Given the description of an element on the screen output the (x, y) to click on. 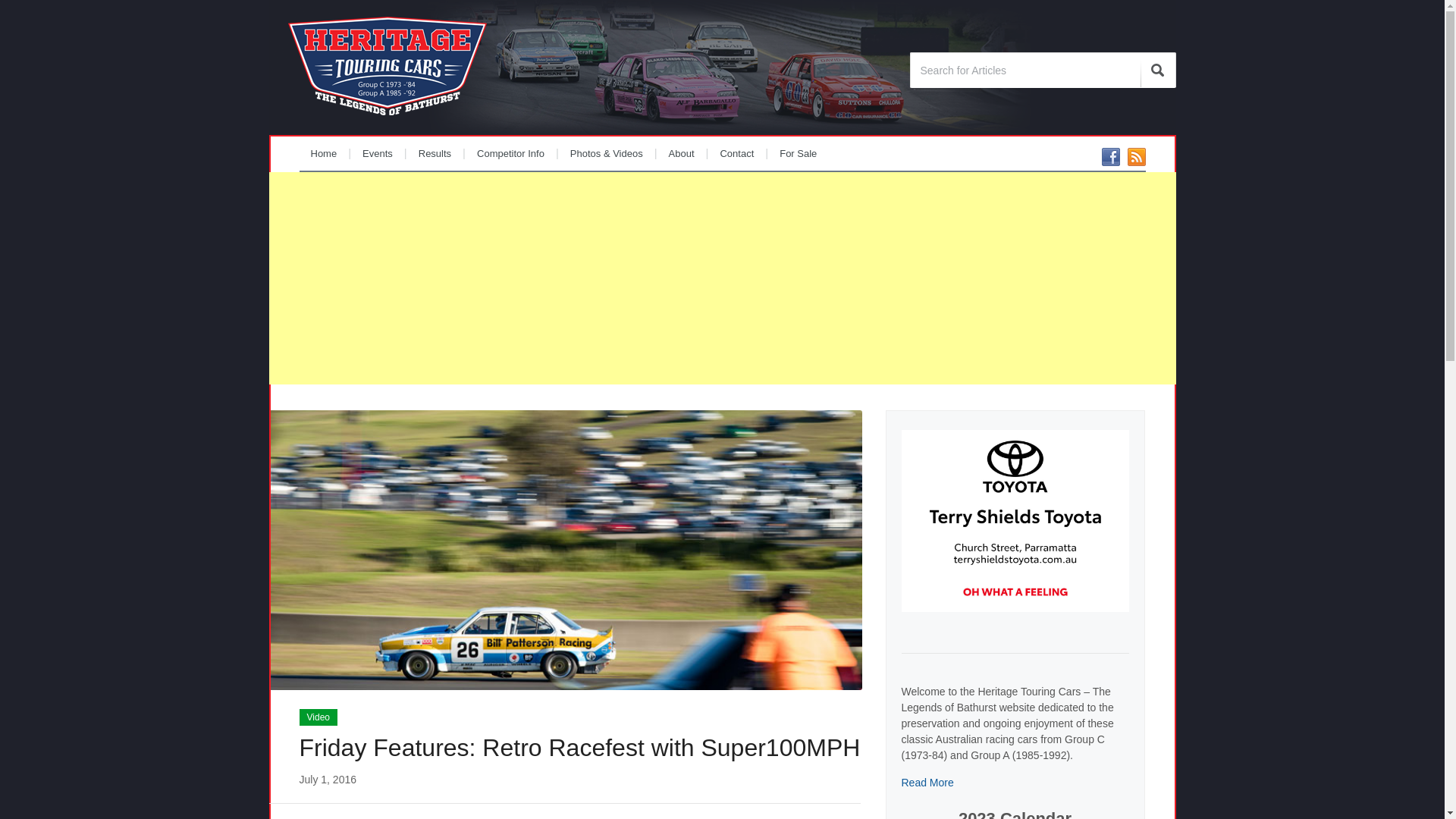
Video Element type: text (317, 717)
Competitor Info Element type: text (510, 153)
Search Element type: text (1158, 69)
The Legends of Bathurst Element type: hover (387, 62)
Read More Element type: text (926, 782)
Home Element type: text (323, 153)
Results Element type: text (434, 153)
Advertisement Element type: hover (721, 278)
Friday Features: Retro Racefest with Super100MPH Element type: text (578, 747)
For Sale Element type: text (798, 153)
Contact Element type: text (736, 153)
Photos & Videos Element type: text (606, 153)
Events Element type: text (377, 153)
About Element type: text (681, 153)
